Given the description of an element on the screen output the (x, y) to click on. 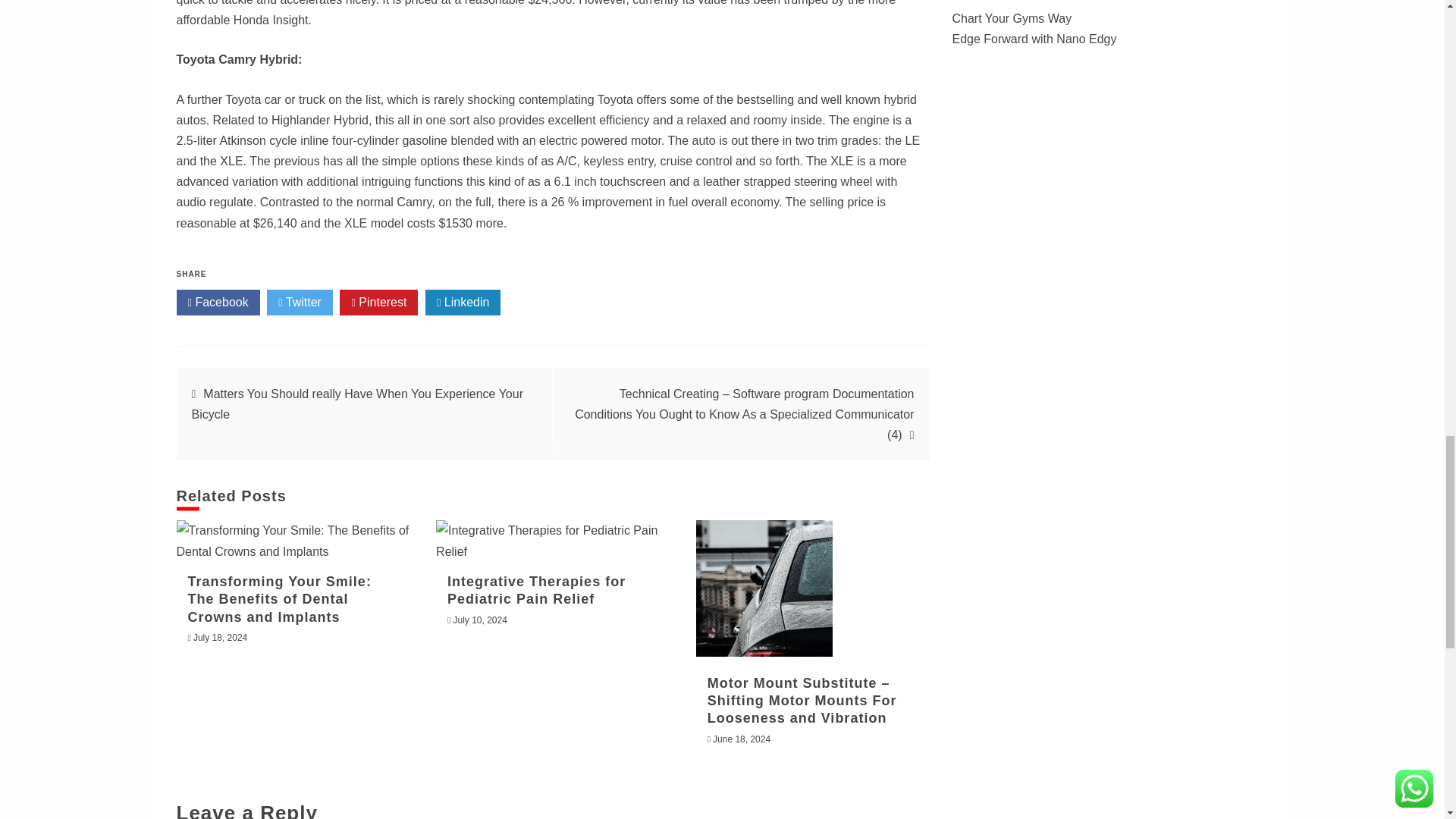
Twitter (299, 302)
July 18, 2024 (220, 637)
July 10, 2024 (479, 620)
Pinterest (378, 302)
Linkedin (462, 302)
Integrative Therapies for Pediatric Pain Relief (552, 540)
June 18, 2024 (741, 738)
Facebook (217, 302)
Integrative Therapies for Pediatric Pain Relief (536, 590)
